Given the description of an element on the screen output the (x, y) to click on. 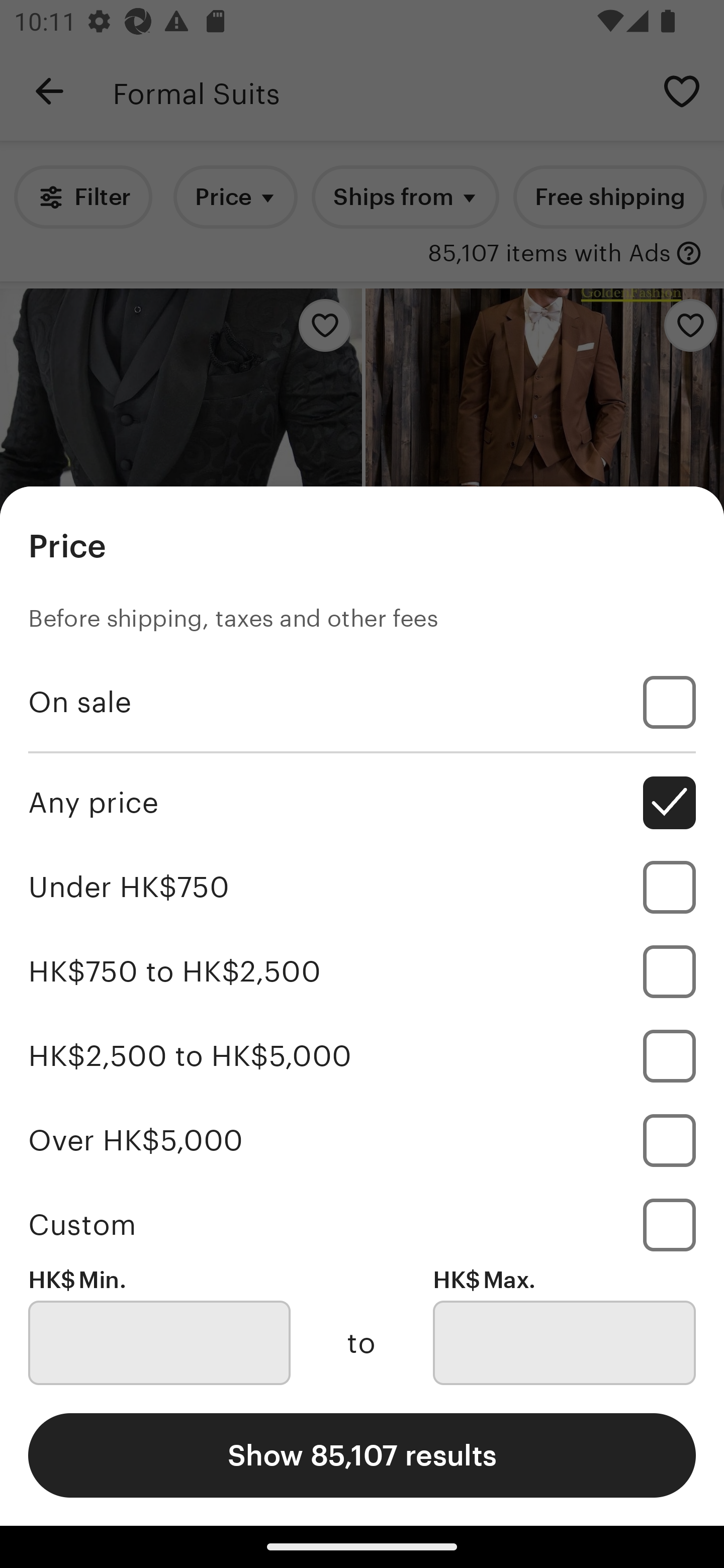
On sale (362, 702)
Any price (362, 802)
Under HK$750 (362, 887)
HK$750 to HK$2,500 (362, 970)
HK$2,500 to HK$5,000 (362, 1054)
Over HK$5,000 (362, 1139)
Custom (362, 1224)
Show 85,107 results (361, 1454)
